Given the description of an element on the screen output the (x, y) to click on. 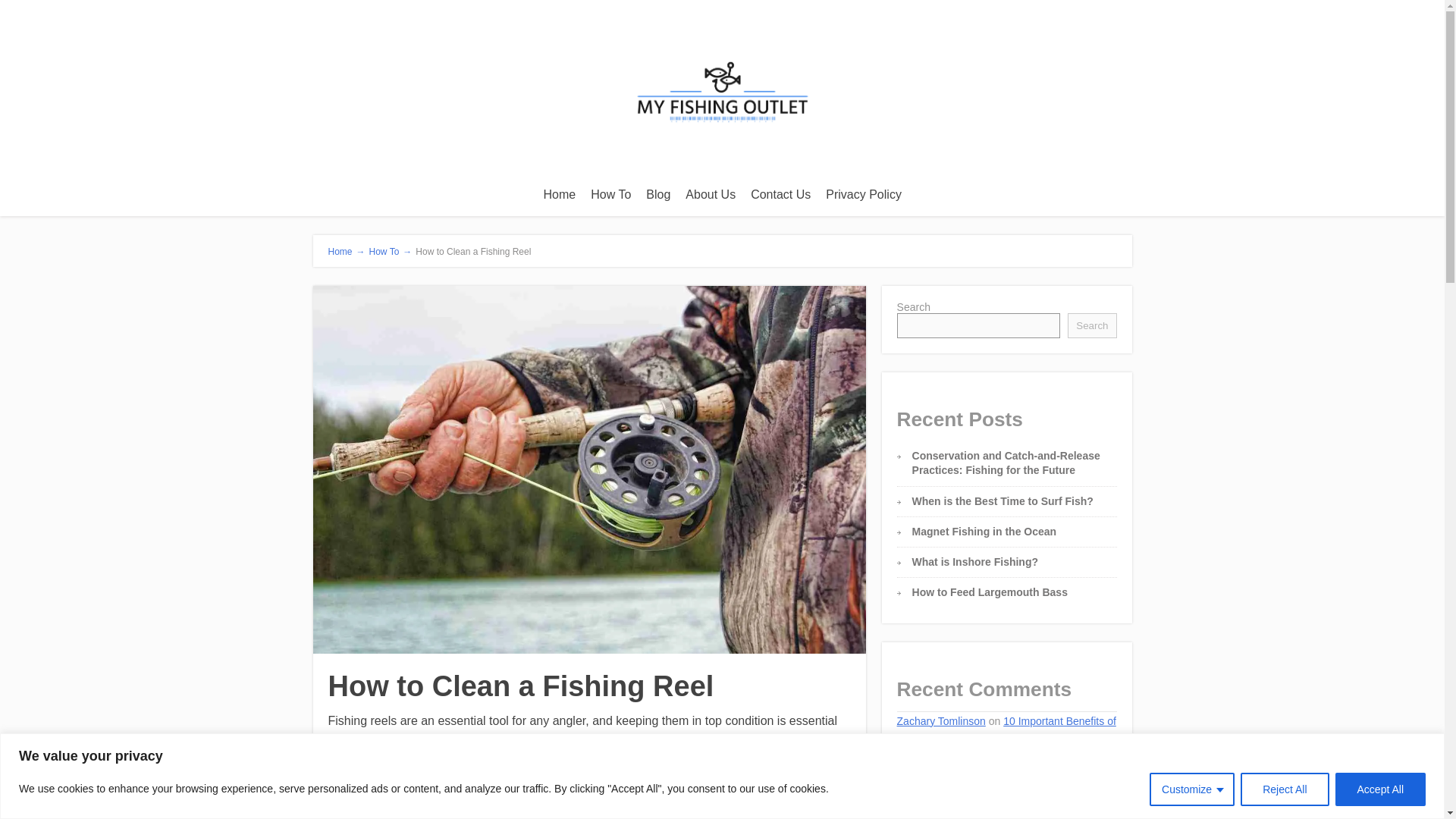
Reject All (1283, 788)
Blog (658, 194)
What is Inshore Fishing? (975, 562)
Privacy Policy (863, 194)
How to Feed Largemouth Bass (989, 592)
Customize (1192, 788)
When is the Best Time to Surf Fish? (1002, 500)
Accept All (1380, 788)
Contact Us (780, 194)
About Us (710, 194)
10 Important Benefits of Fishing (1006, 730)
Zachary Tomlinson (940, 720)
How To (611, 194)
Home (559, 194)
